Given the description of an element on the screen output the (x, y) to click on. 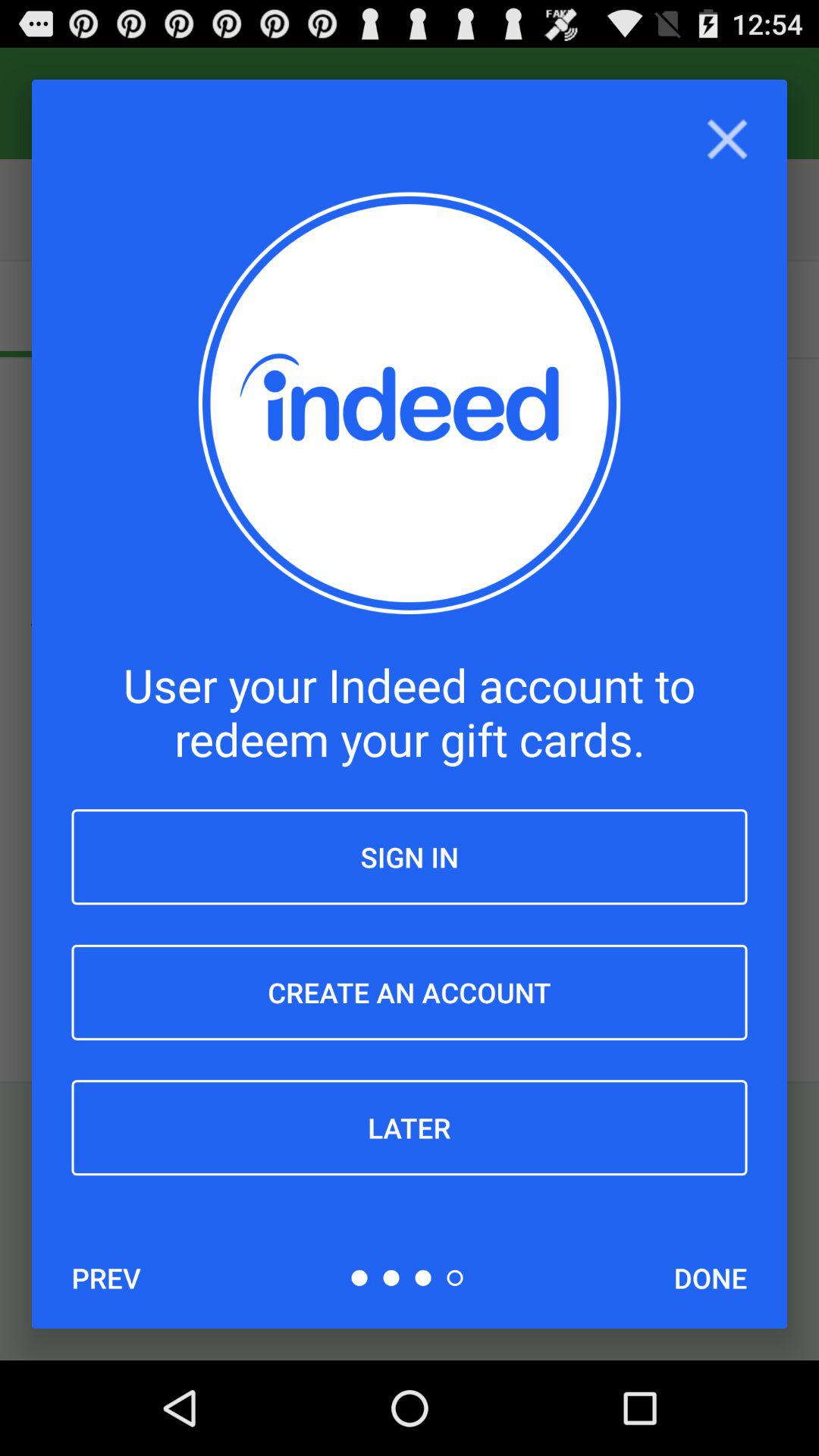
jump to prev item (105, 1277)
